Given the description of an element on the screen output the (x, y) to click on. 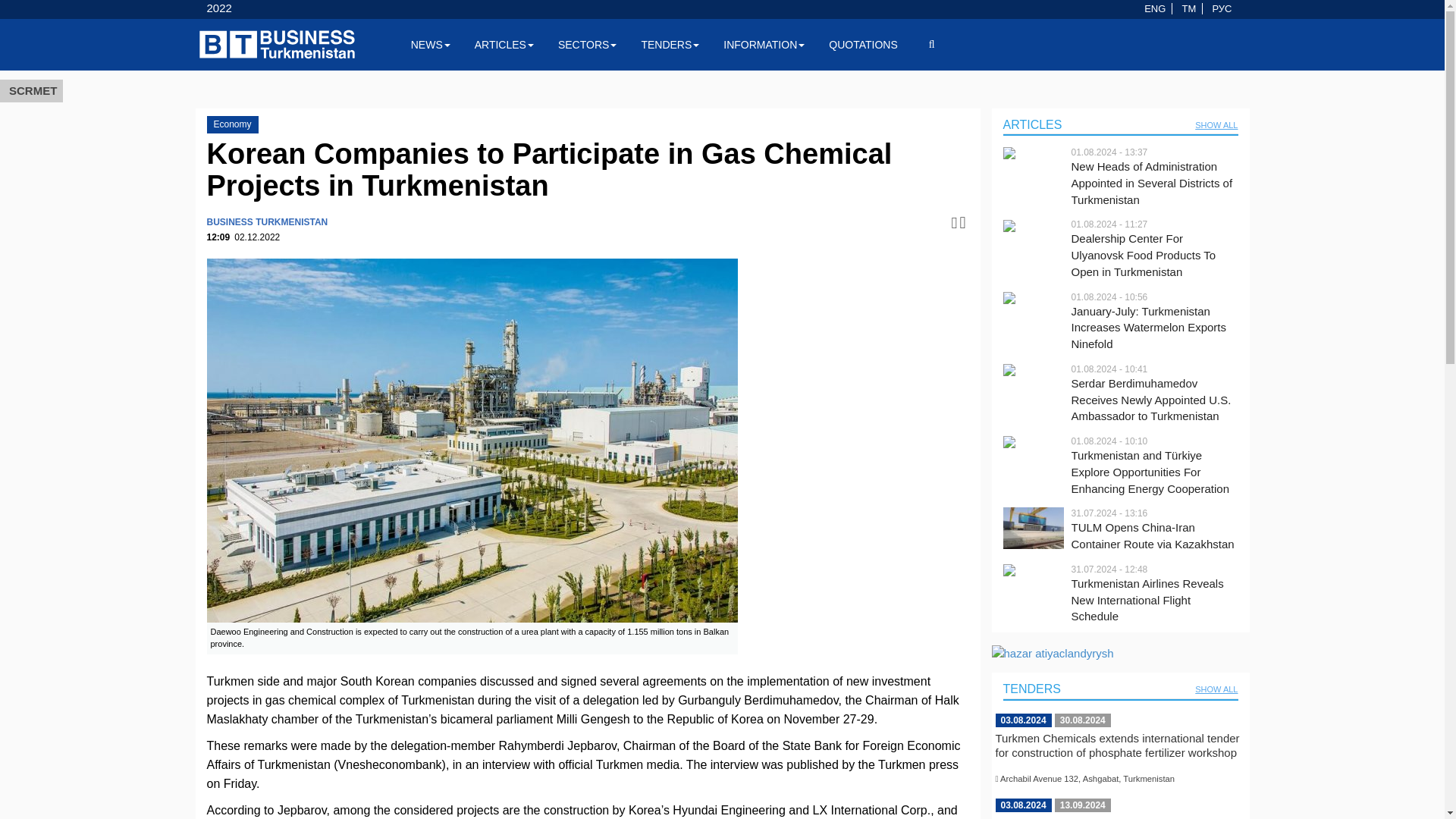
Economy (231, 124)
TULM Opens China-Iran Container Route via Kazakhstan (1153, 535)
